Given the description of an element on the screen output the (x, y) to click on. 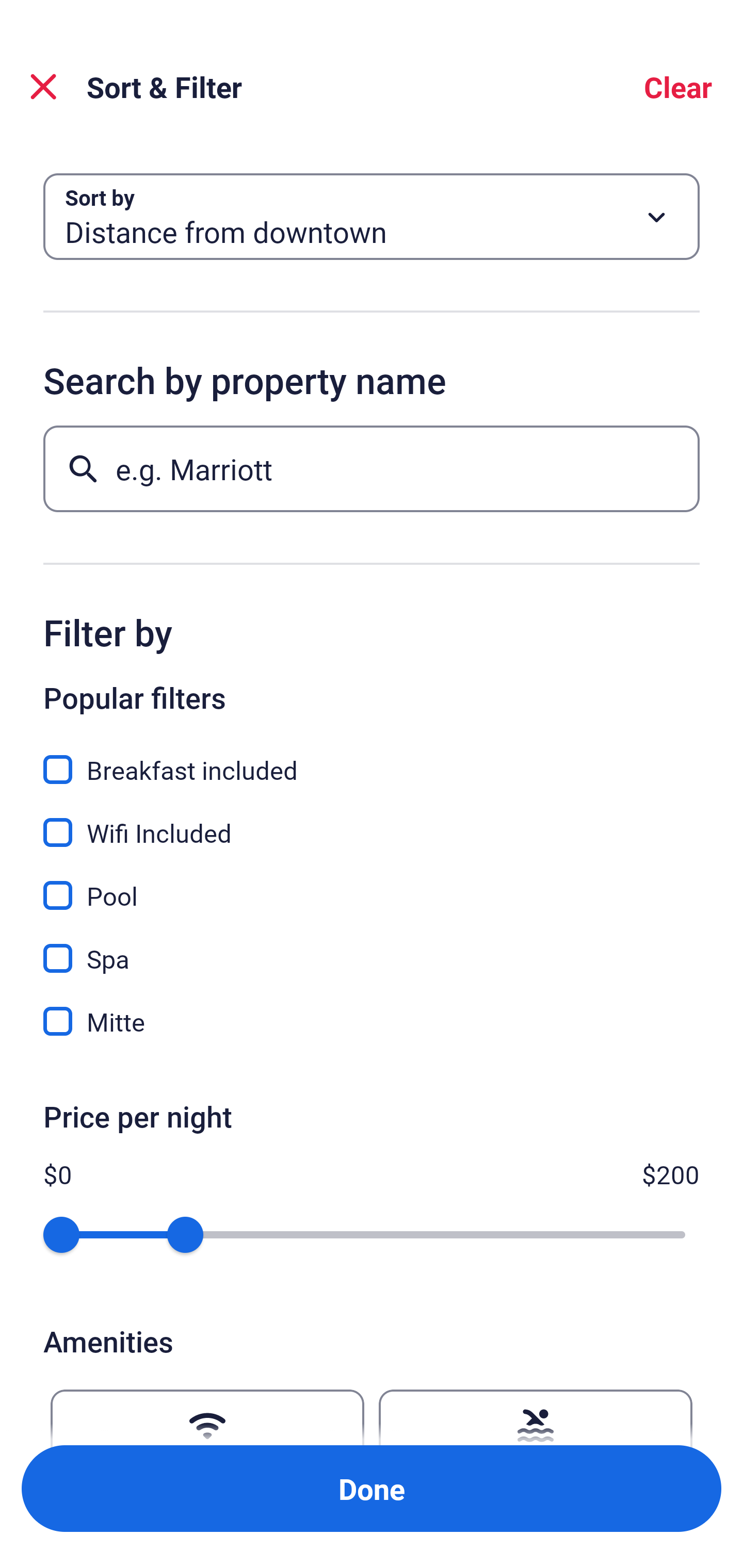
Close Sort and Filter (43, 86)
Clear (677, 86)
Sort by Button Distance from downtown (371, 217)
e.g. Marriott Button (371, 468)
Breakfast included, Breakfast included (371, 757)
Wifi Included, Wifi Included (371, 821)
Pool, Pool (371, 883)
Spa, Spa (371, 946)
Mitte, Mitte (371, 1021)
Apply and close Sort and Filter Done (371, 1488)
